Given the description of an element on the screen output the (x, y) to click on. 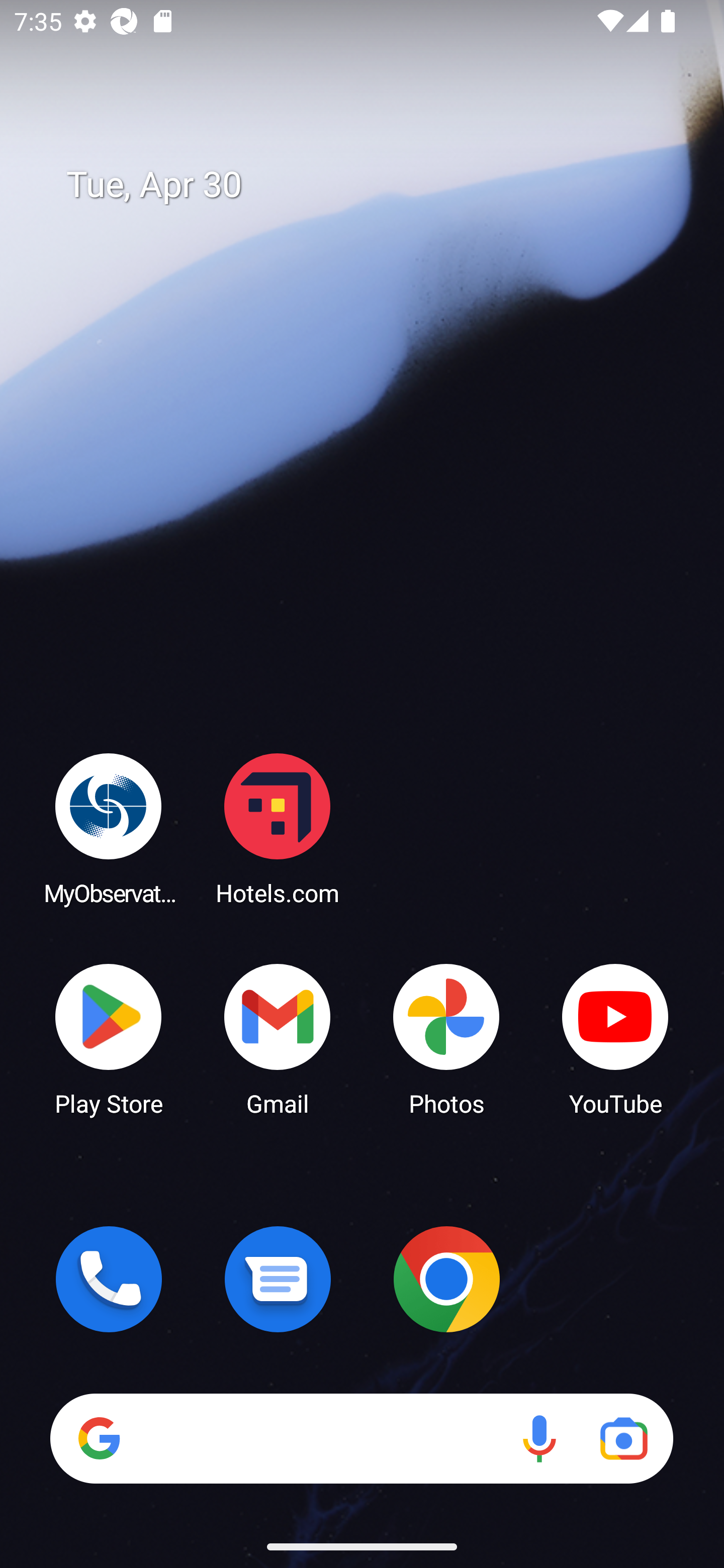
Tue, Apr 30 (375, 184)
MyObservatory (108, 828)
Hotels.com (277, 828)
Play Store (108, 1038)
Gmail (277, 1038)
Photos (445, 1038)
YouTube (615, 1038)
Phone (108, 1279)
Messages (277, 1279)
Chrome (446, 1279)
Voice search (539, 1438)
Google Lens (623, 1438)
